Given the description of an element on the screen output the (x, y) to click on. 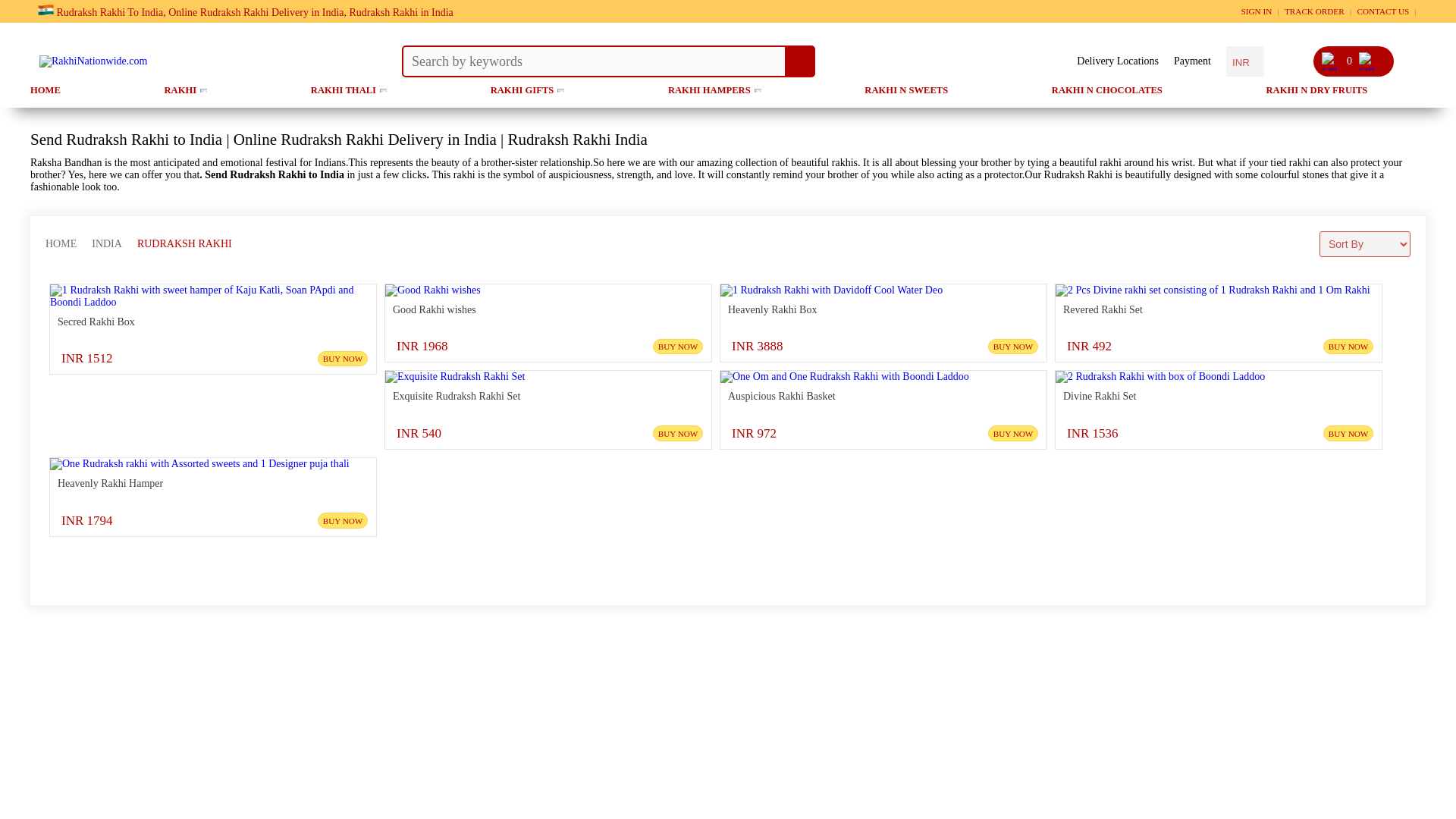
1 Rudraksh Rakhi with Davidoff Cool Water Deo (831, 290)
SIGN IN (1260, 10)
RAKHI (186, 90)
HOME (45, 90)
0 (1340, 61)
Delivery Locations (1117, 60)
Good Rakhi wishes (432, 290)
CONTACT US (1386, 10)
Exquisite Rudraksh Rakhi Set (454, 377)
